Given the description of an element on the screen output the (x, y) to click on. 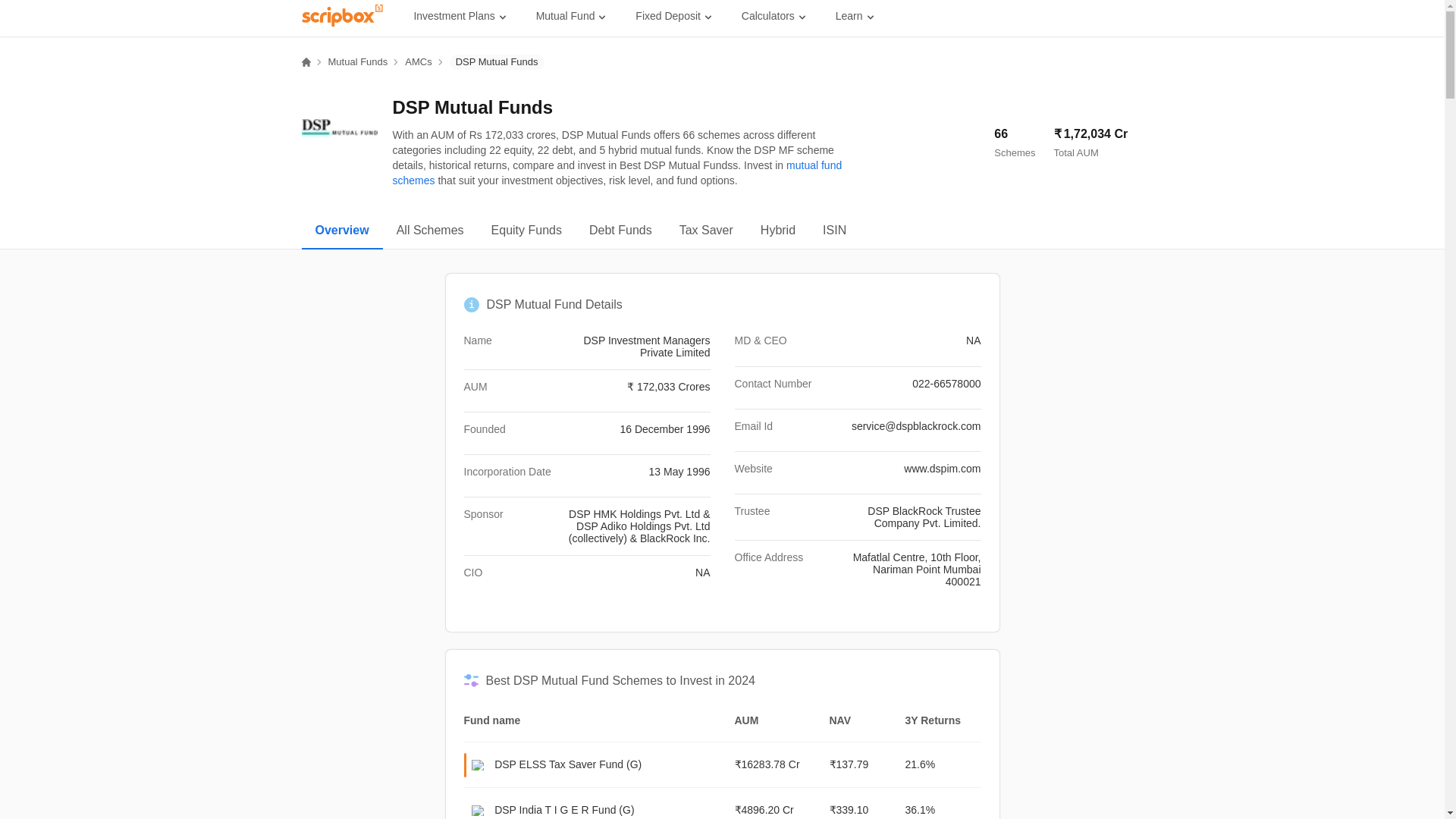
scripbox logo (343, 15)
